Given the description of an element on the screen output the (x, y) to click on. 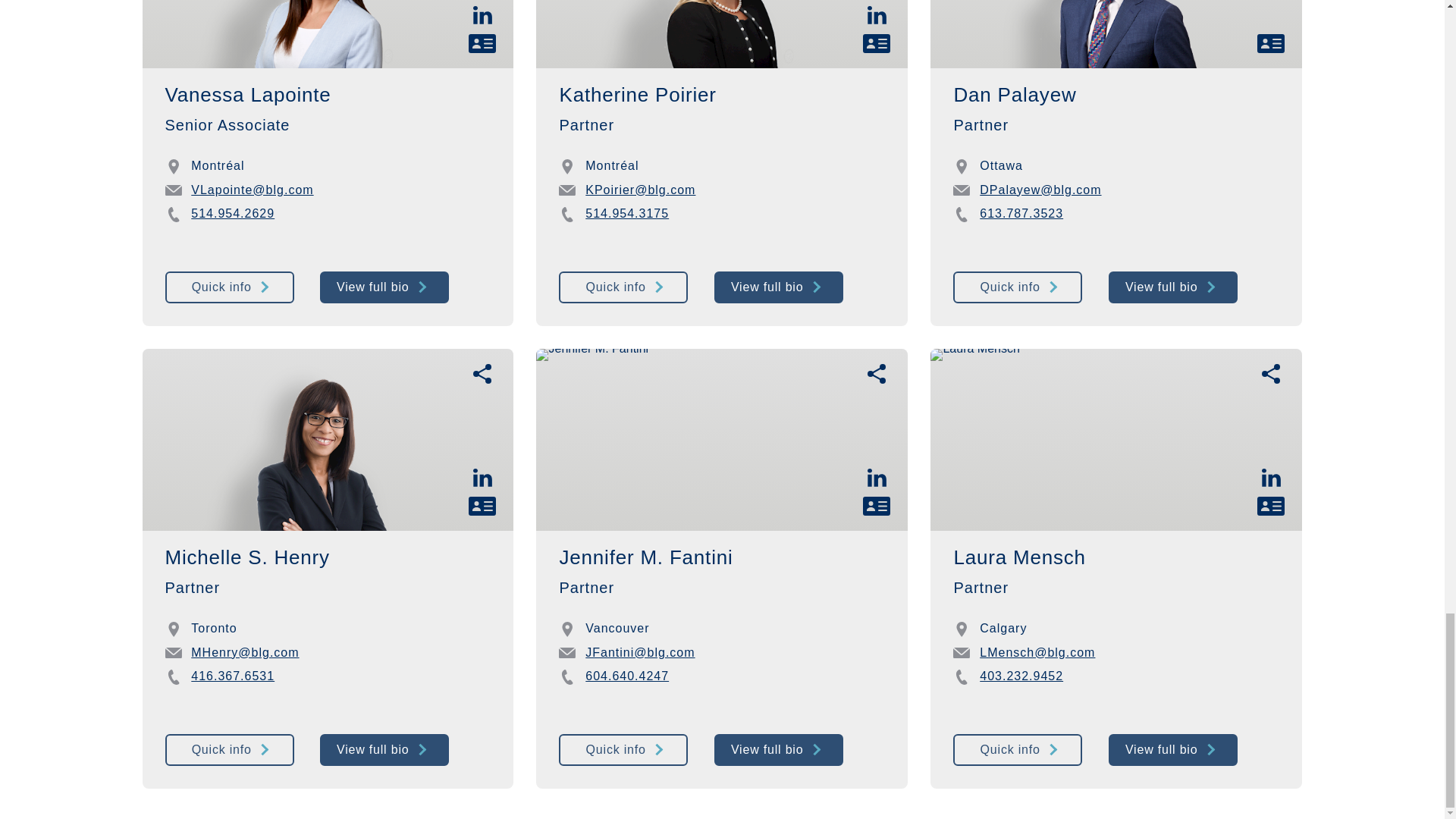
LinkedIn (876, 14)
LinkedIn (482, 477)
LinkedIn (876, 477)
LinkedIn (482, 14)
LinkedIn (1271, 477)
